Given the description of an element on the screen output the (x, y) to click on. 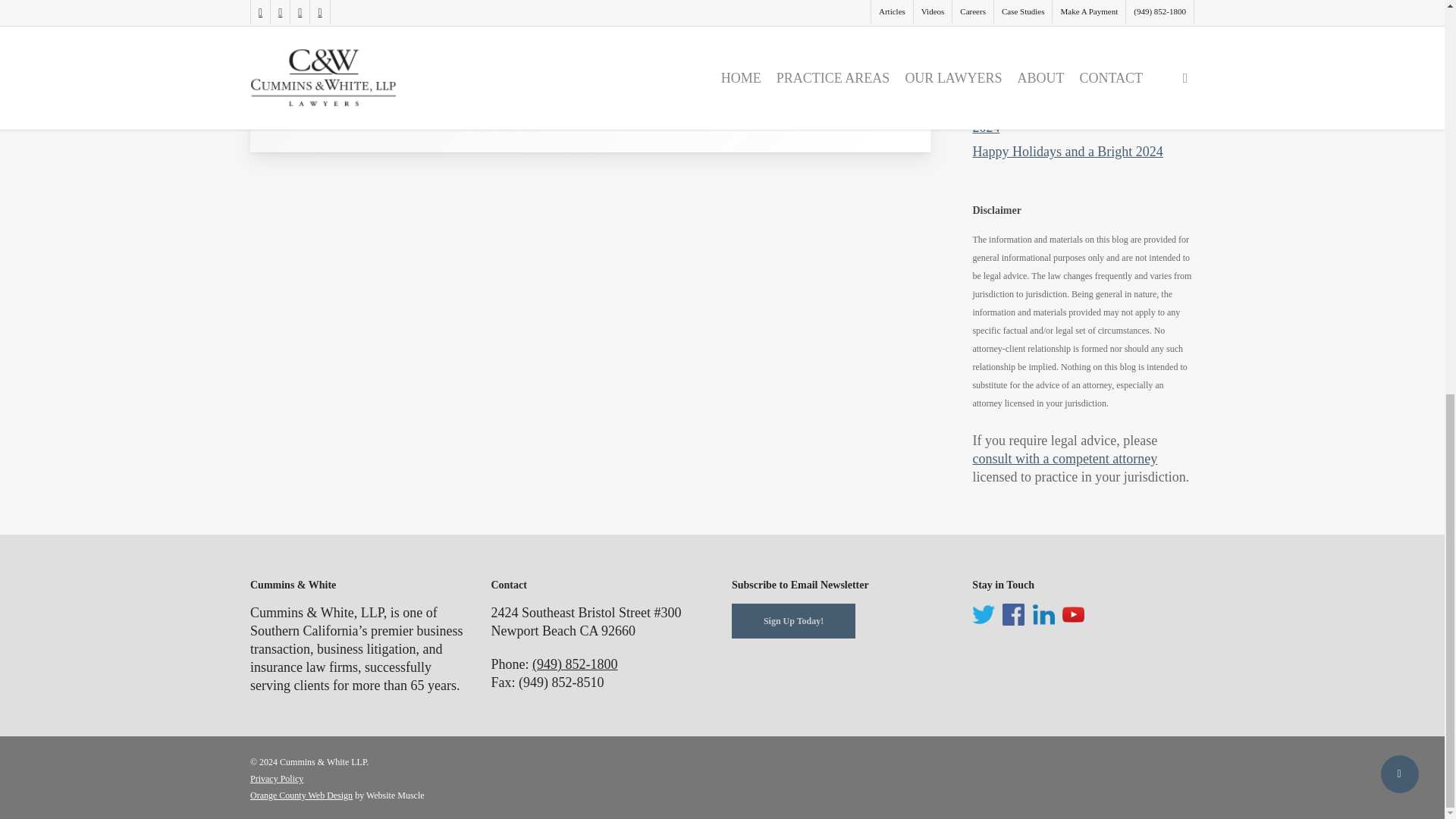
Back to Blogs (476, 95)
Attorney Bio (350, 95)
